Given the description of an element on the screen output the (x, y) to click on. 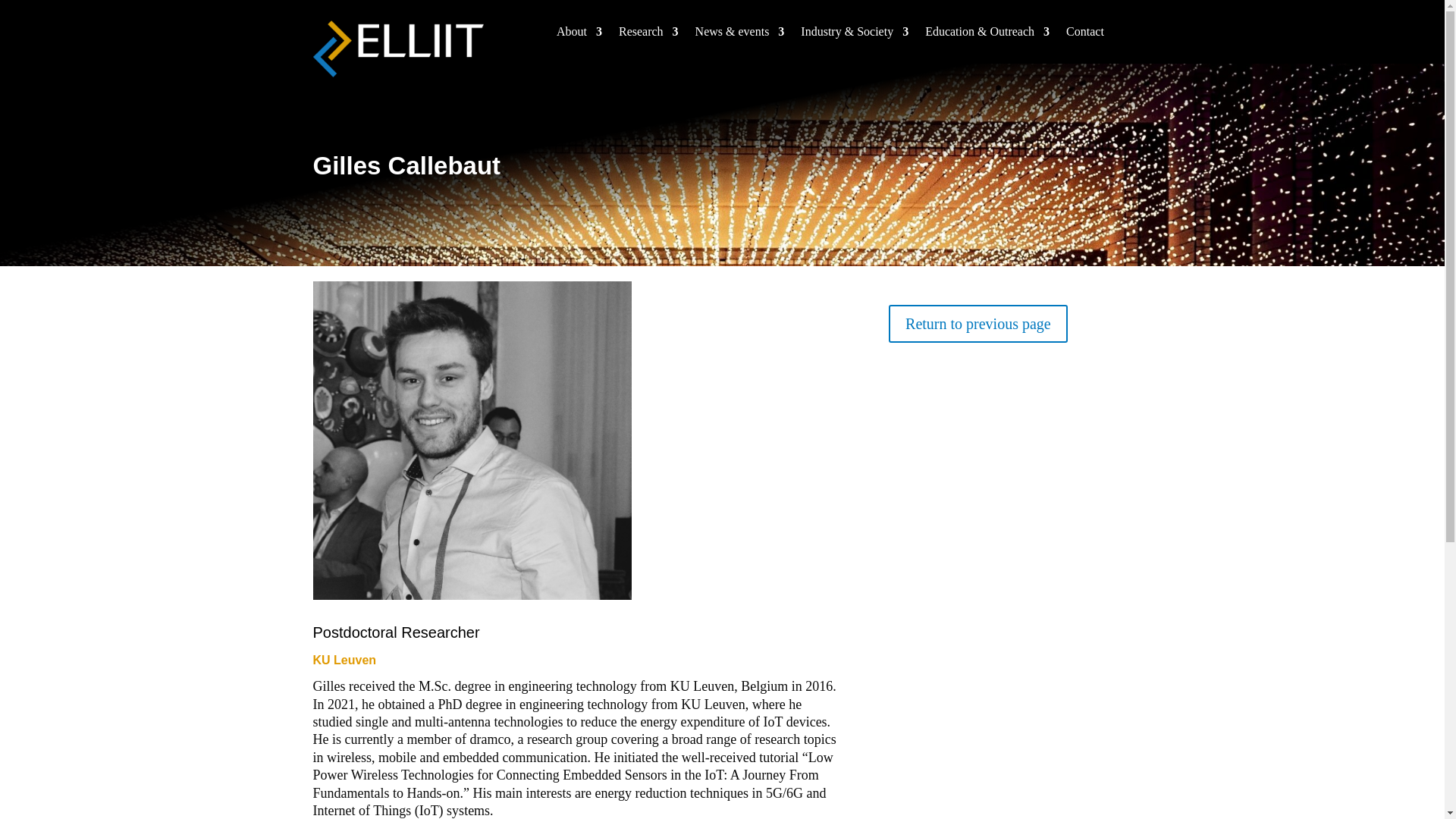
gilles (471, 440)
Research (648, 34)
About (579, 34)
elliit-logotyp-vit-gul (398, 48)
Contact (1084, 34)
